Given the description of an element on the screen output the (x, y) to click on. 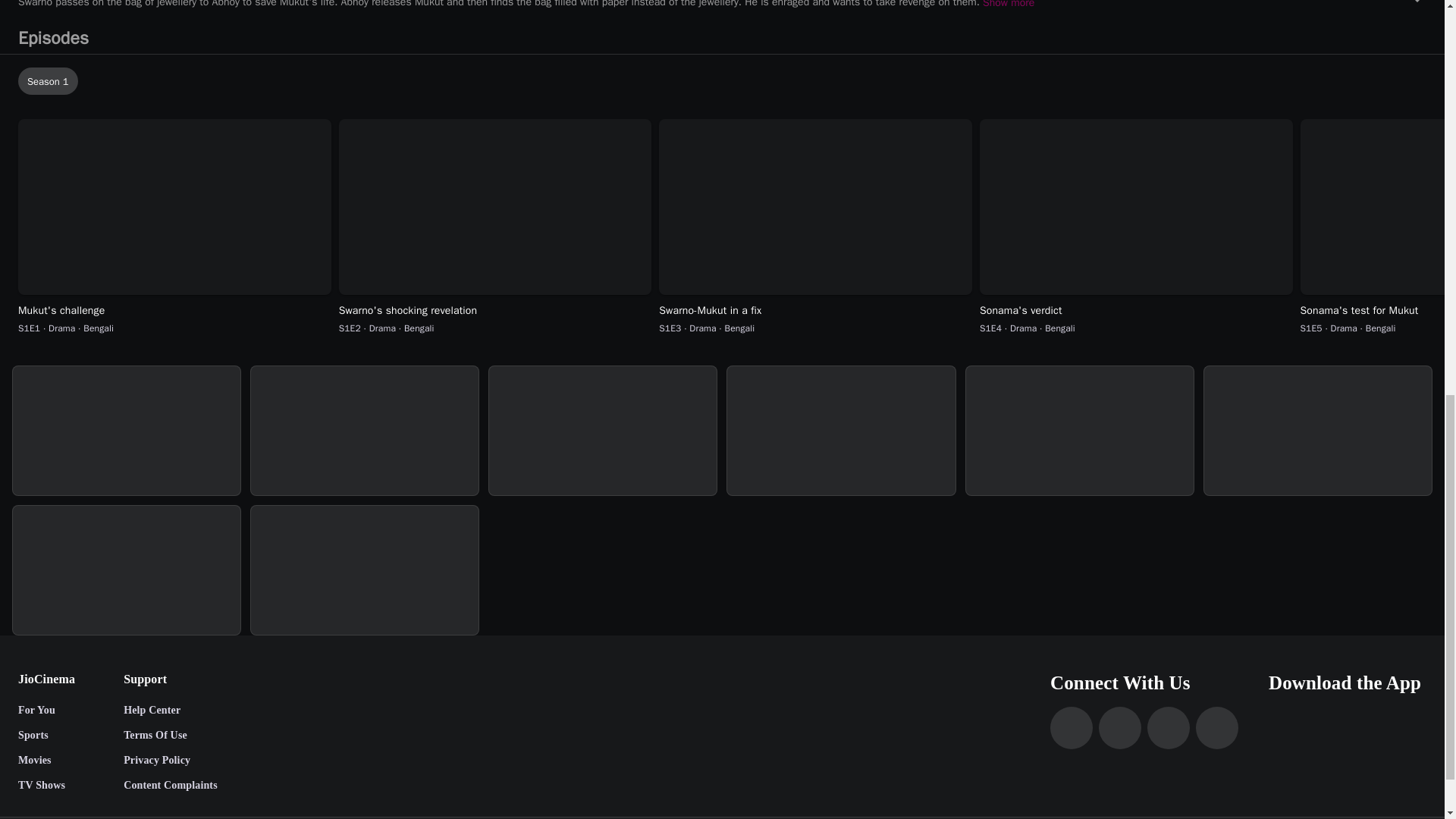
Season 1 (724, 80)
Mukut's challenge (174, 310)
Swarno's shocking revelation (495, 310)
Swarno-Mukut in a fix (815, 310)
Sonama's verdict (1135, 310)
Season 1 (47, 81)
Season 1 (724, 81)
